Given the description of an element on the screen output the (x, y) to click on. 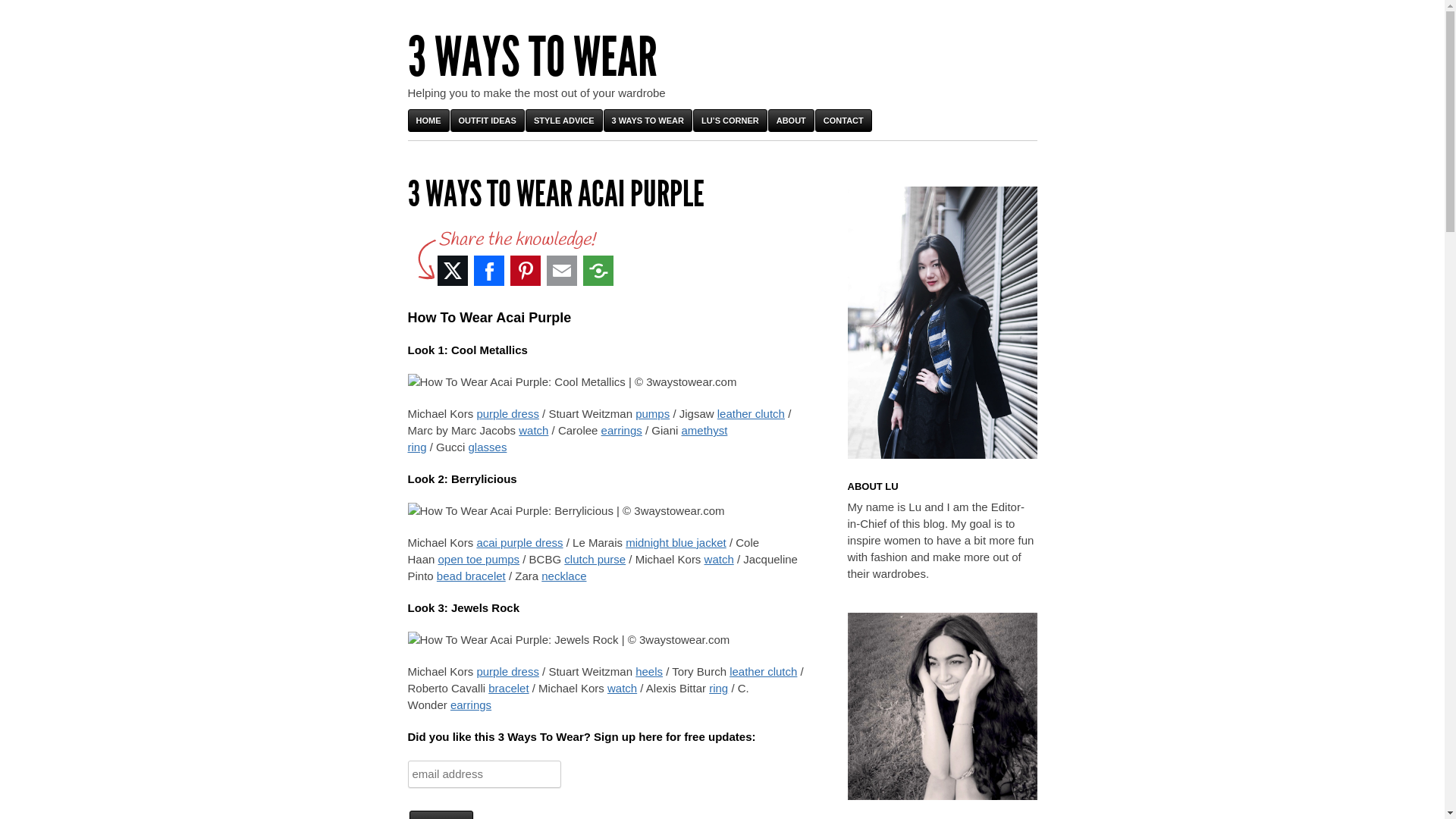
More Options Element type: hover (597, 270)
Pinterest Element type: hover (524, 270)
How To Wear Acai Purple: Jewels Rock Element type: hover (568, 639)
acai purple dress Element type: text (519, 542)
bead bracelet Element type: text (470, 575)
earrings Element type: text (621, 429)
ABOUT Element type: text (791, 120)
purple dress Element type: text (507, 671)
3 WAYS TO WEAR Element type: text (647, 120)
STYLE ADVICE Element type: text (563, 120)
amethyst ring Element type: text (567, 438)
Email This Element type: hover (560, 270)
leather clutch Element type: text (750, 413)
clutch purse Element type: text (594, 558)
bracelet Element type: text (508, 687)
OUTFIT IDEAS Element type: text (487, 120)
watch Element type: text (622, 687)
midnight blue jacket Element type: text (675, 542)
CONTACT Element type: text (843, 120)
HOME Element type: text (428, 120)
heels Element type: text (648, 671)
pumps Element type: text (652, 413)
Rand - Fashion Editor Element type: hover (942, 706)
How To Wear Acai Purple: Berrylicious Element type: hover (565, 510)
earrings Element type: text (470, 704)
Lu Li - Editor of 3 Ways To Wear Element type: hover (942, 322)
open toe pumps Element type: text (479, 558)
watch Element type: text (719, 558)
purple dress Element type: text (507, 413)
ring Element type: text (718, 687)
X (Twitter) Element type: hover (451, 270)
glasses Element type: text (487, 446)
Facebook Element type: hover (488, 270)
How To Wear Acai Purple: Cool Metallics Element type: hover (572, 381)
3 WAYS TO WEAR Element type: text (532, 57)
watch Element type: text (533, 429)
leather clutch Element type: text (763, 671)
necklace Element type: text (563, 575)
